Given the description of an element on the screen output the (x, y) to click on. 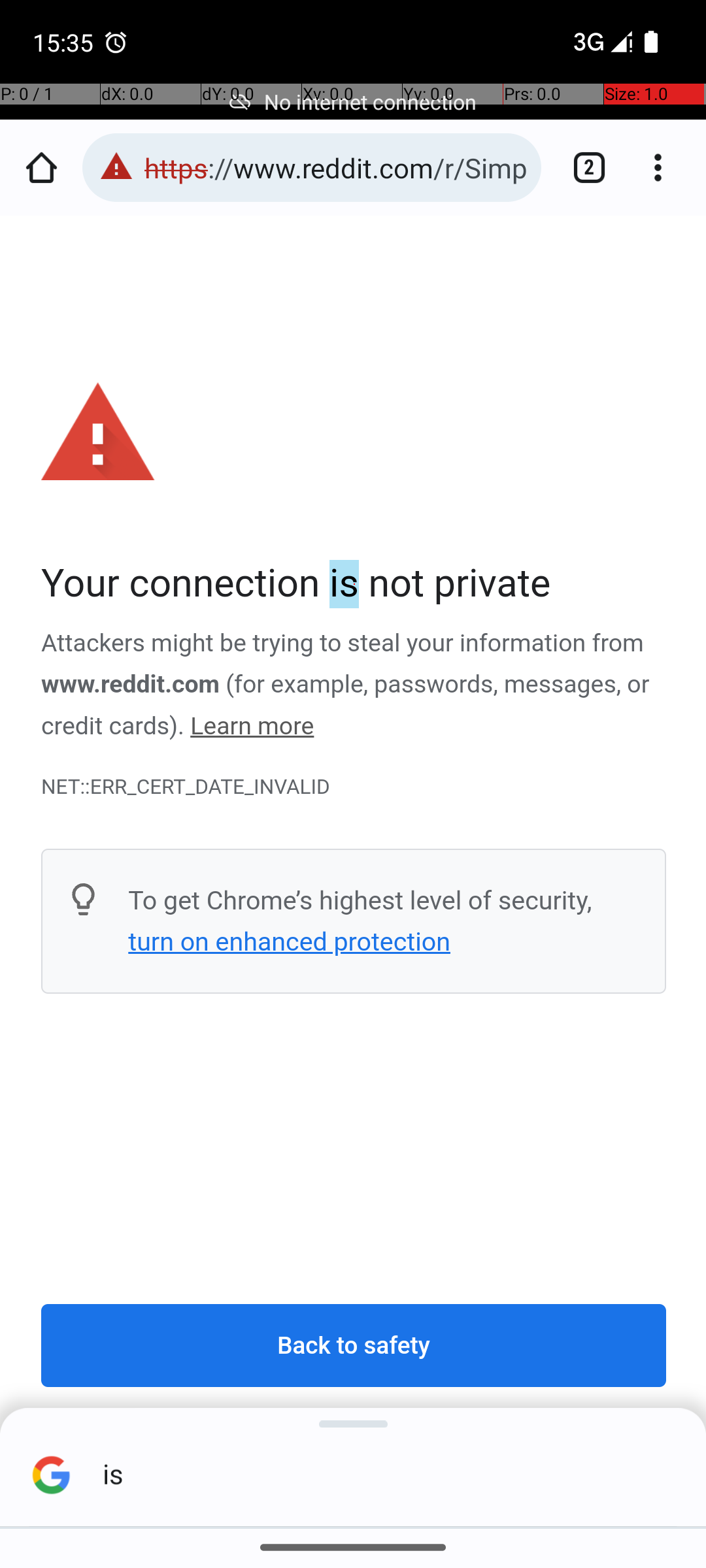
https://www.reddit.com/r/SimpleMobileTools Element type: android.widget.EditText (335, 167)
www.reddit.com Element type: android.widget.TextView (130, 684)
